Given the description of an element on the screen output the (x, y) to click on. 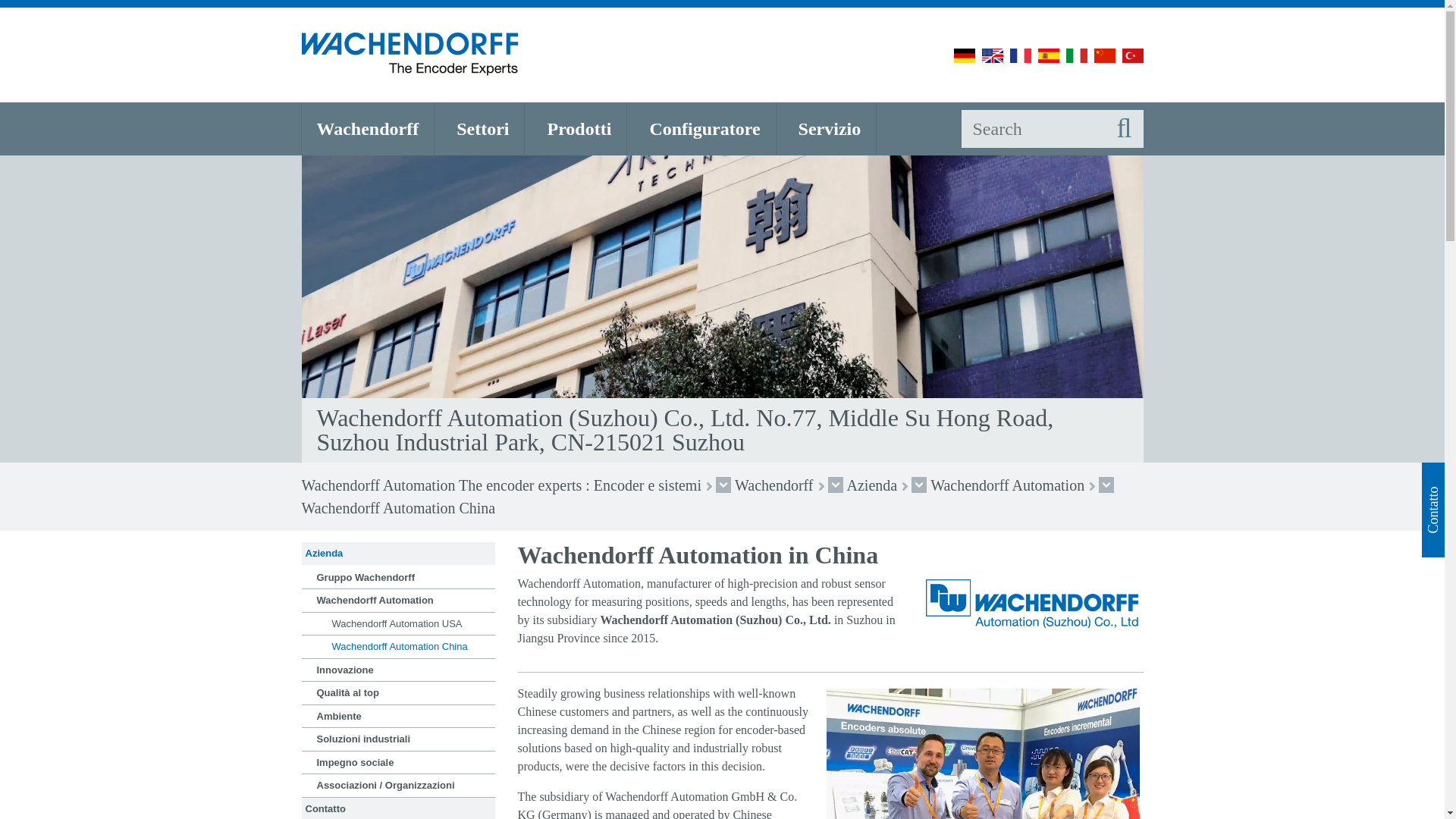
Wachendorff (366, 128)
